Given the description of an element on the screen output the (x, y) to click on. 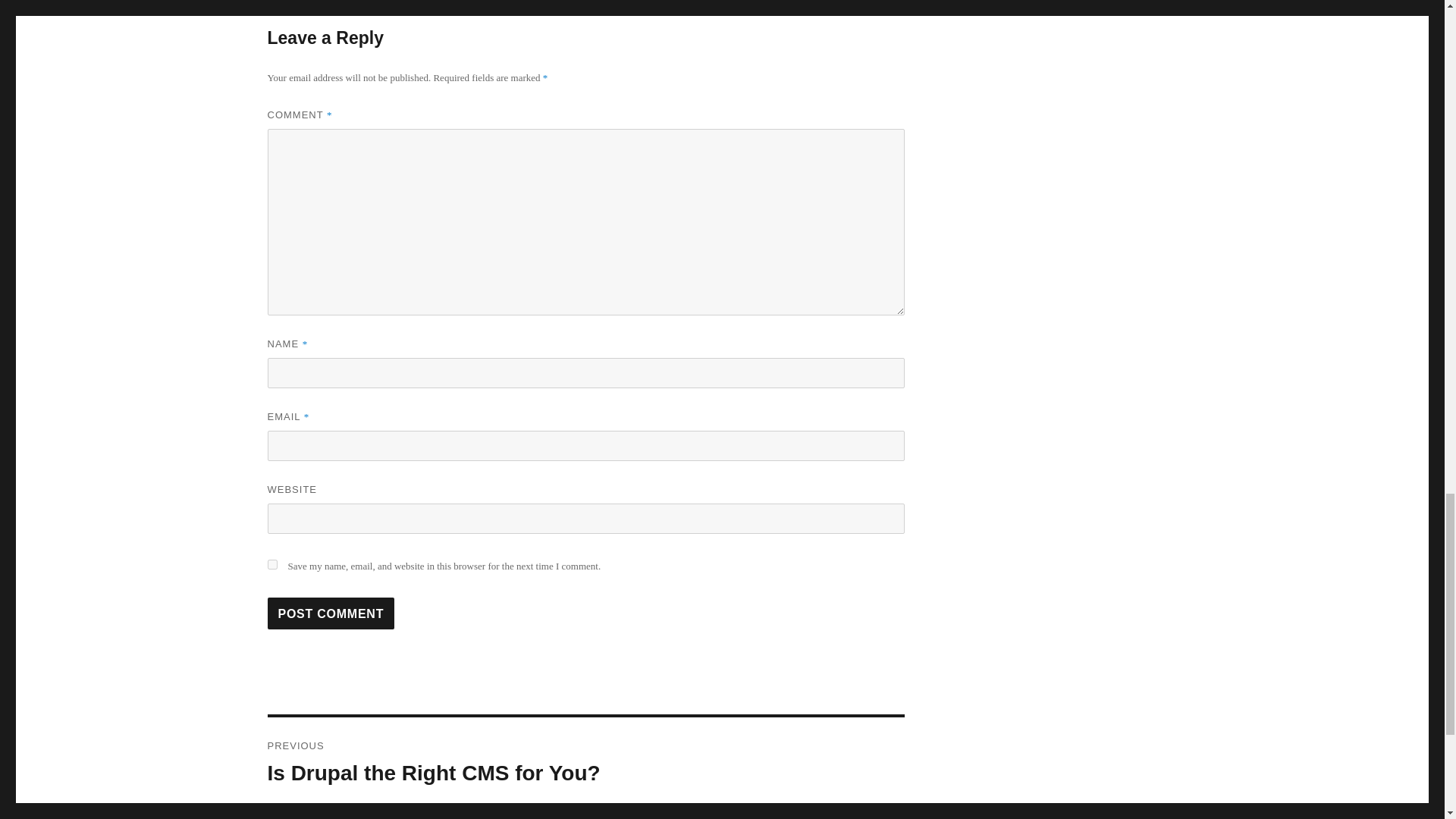
yes (271, 564)
Post Comment (585, 762)
Post Comment (330, 613)
